Given the description of an element on the screen output the (x, y) to click on. 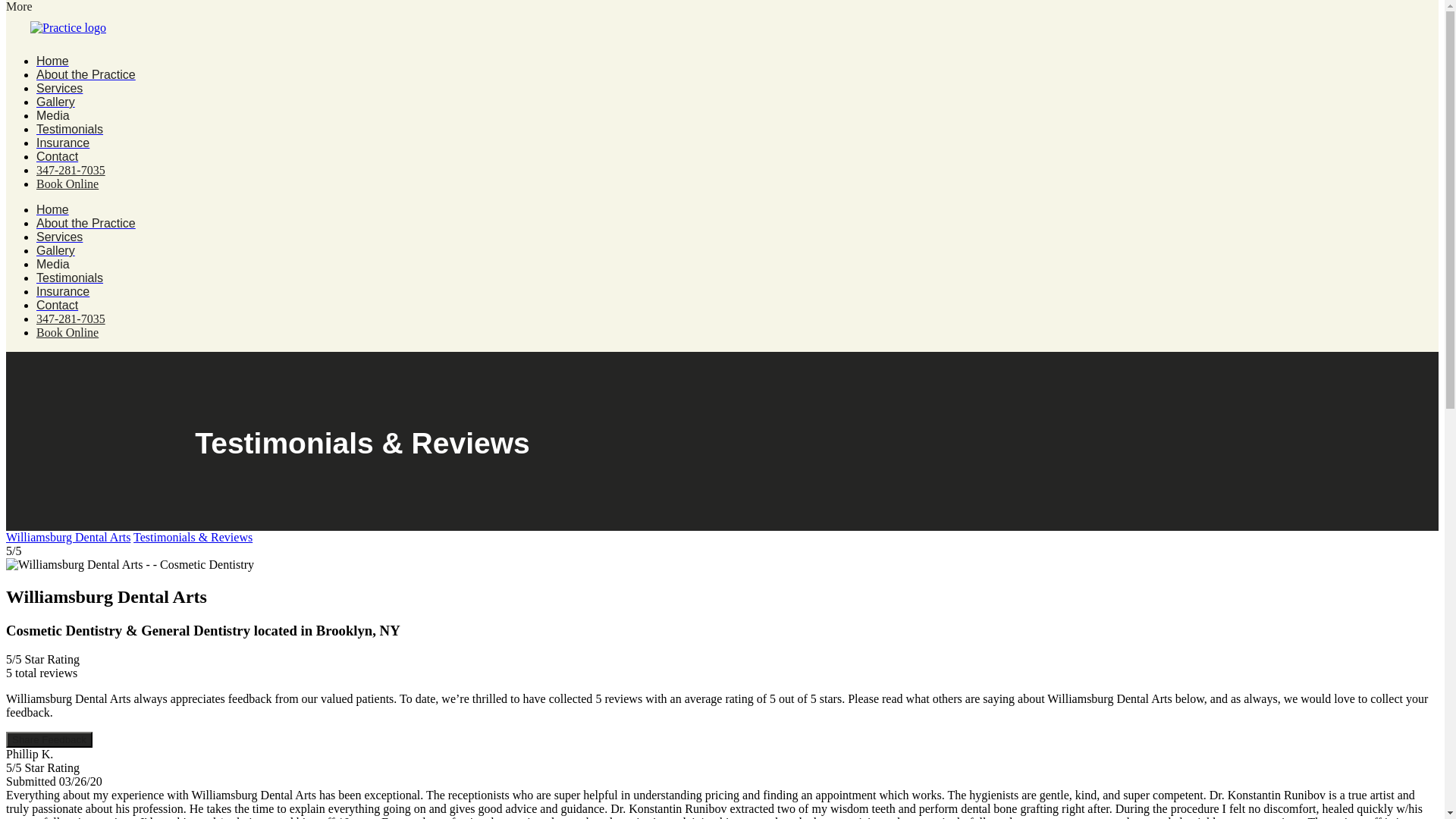
Contact (57, 155)
Book Online (67, 183)
Home (52, 60)
Media (52, 115)
Services (59, 88)
Home (52, 209)
347-281-7035 (70, 169)
Gallery (55, 101)
Testimonials (69, 128)
Insurance (62, 142)
About the Practice (85, 74)
Share Feedback (49, 739)
